Given the description of an element on the screen output the (x, y) to click on. 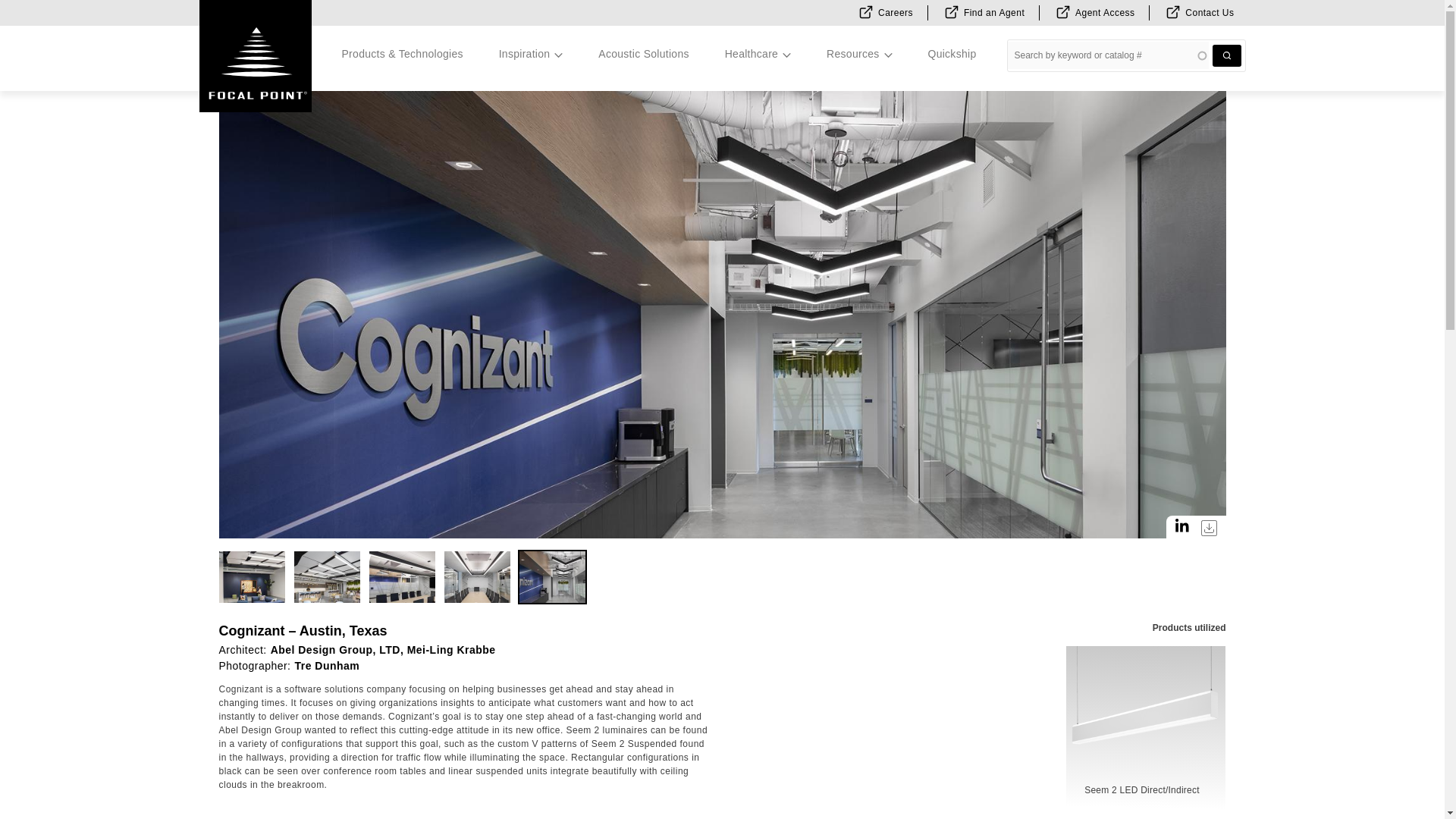
Careers (882, 12)
Find an Agent (981, 12)
Acoustic Solutions (643, 54)
Agent Access (1092, 12)
Careers (882, 12)
Agent Access (1092, 12)
Find an Agent (981, 12)
Resources (859, 54)
Healthcare (758, 54)
Quickship (951, 54)
Inspiration (531, 54)
Contact Us (1196, 12)
